Given the description of an element on the screen output the (x, y) to click on. 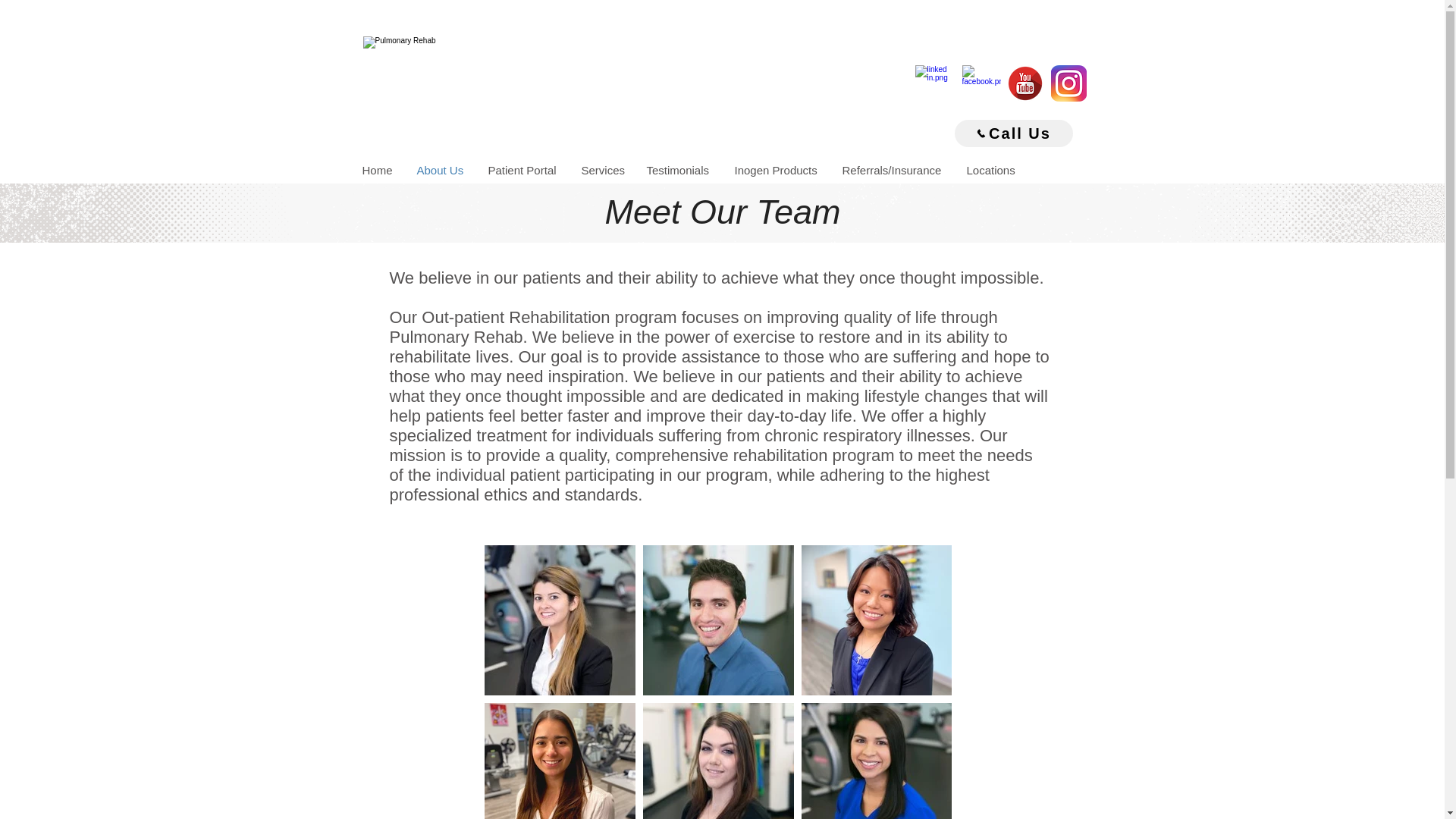
Inogen Products (777, 169)
Patient Portal (522, 169)
Services (602, 169)
Insta icon.png (1068, 83)
About Us (440, 169)
Home (377, 169)
Testimonials (678, 169)
Locations (991, 169)
Call Us (1012, 133)
